Given the description of an element on the screen output the (x, y) to click on. 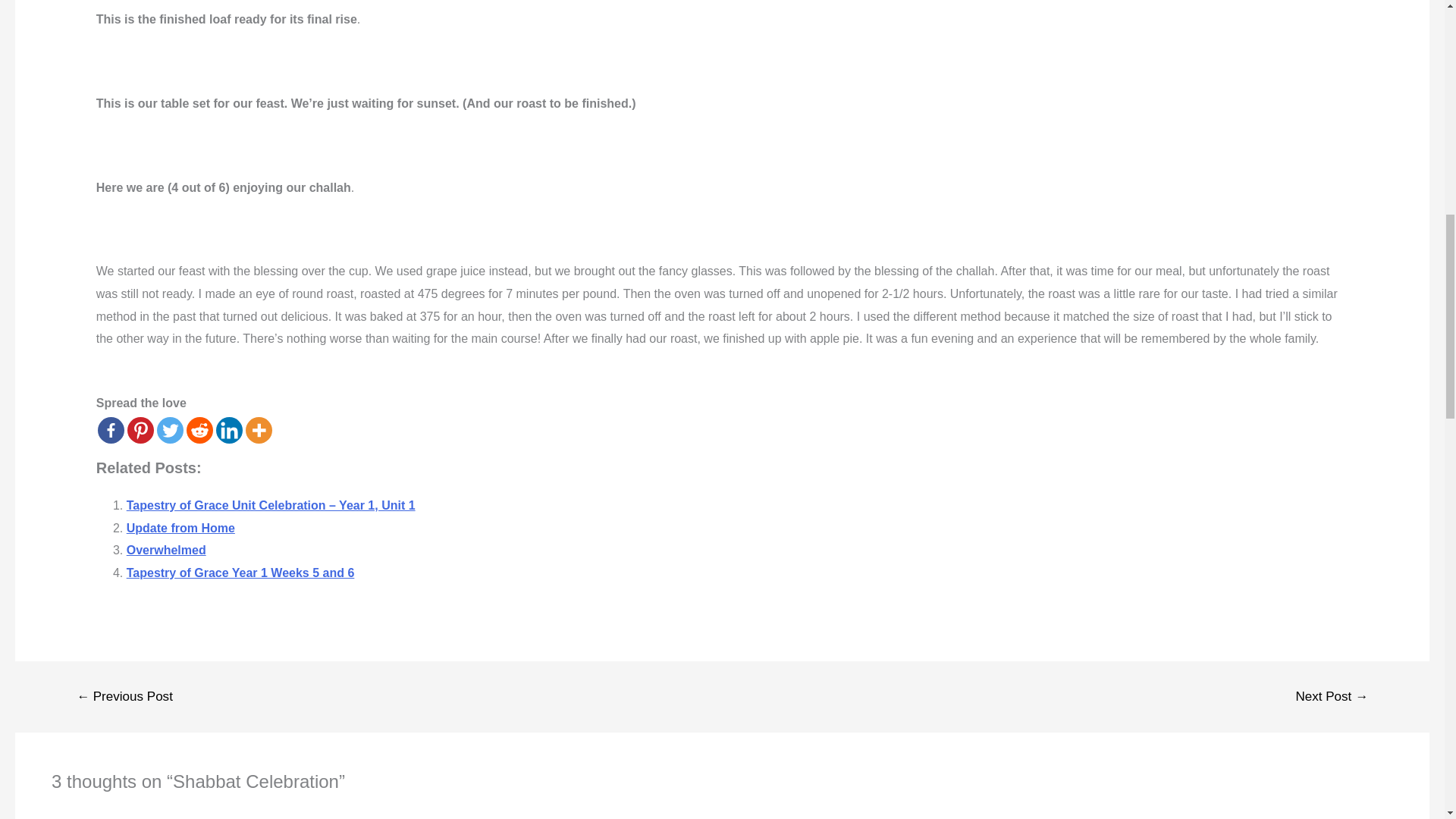
Linkedin (229, 429)
More (259, 429)
Overwhelmed (166, 549)
Pinterest (141, 429)
Update from Home (180, 527)
Update from Home (180, 527)
Tapestry of Grace Year 1 Weeks 5 and 6 (240, 572)
Facebook (110, 429)
Reddit (199, 429)
Twitter (170, 429)
